Given the description of an element on the screen output the (x, y) to click on. 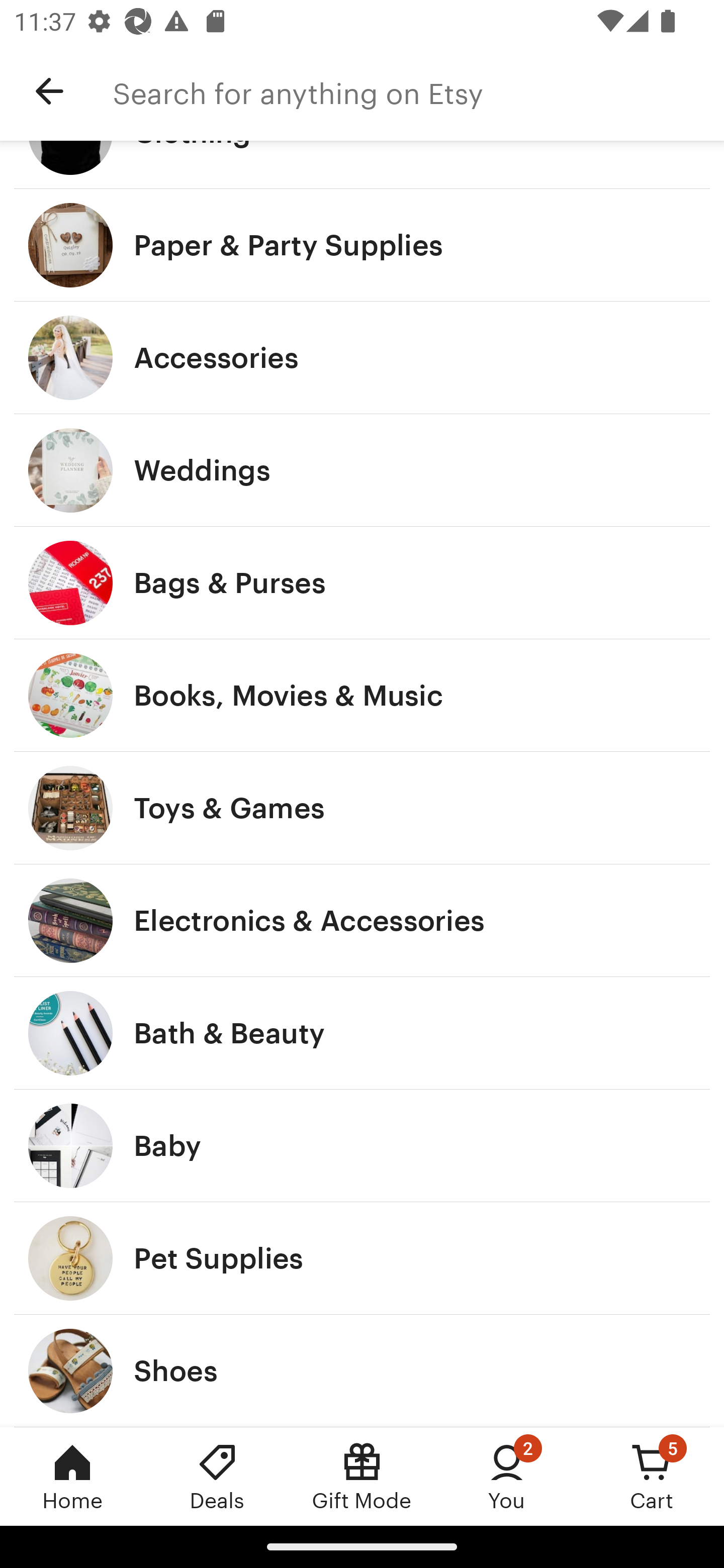
Navigate up (49, 91)
Search for anything on Etsy (418, 91)
Paper & Party Supplies (361, 245)
Accessories (361, 357)
Weddings (361, 469)
Bags & Purses (361, 582)
Books, Movies & Music (361, 695)
Toys & Games (361, 807)
Electronics & Accessories (361, 919)
Bath & Beauty (361, 1032)
Baby (361, 1145)
Pet Supplies (361, 1257)
Shoes (361, 1369)
Deals (216, 1475)
Gift Mode (361, 1475)
You, 2 new notifications You (506, 1475)
Cart, 5 new notifications Cart (651, 1475)
